Given the description of an element on the screen output the (x, y) to click on. 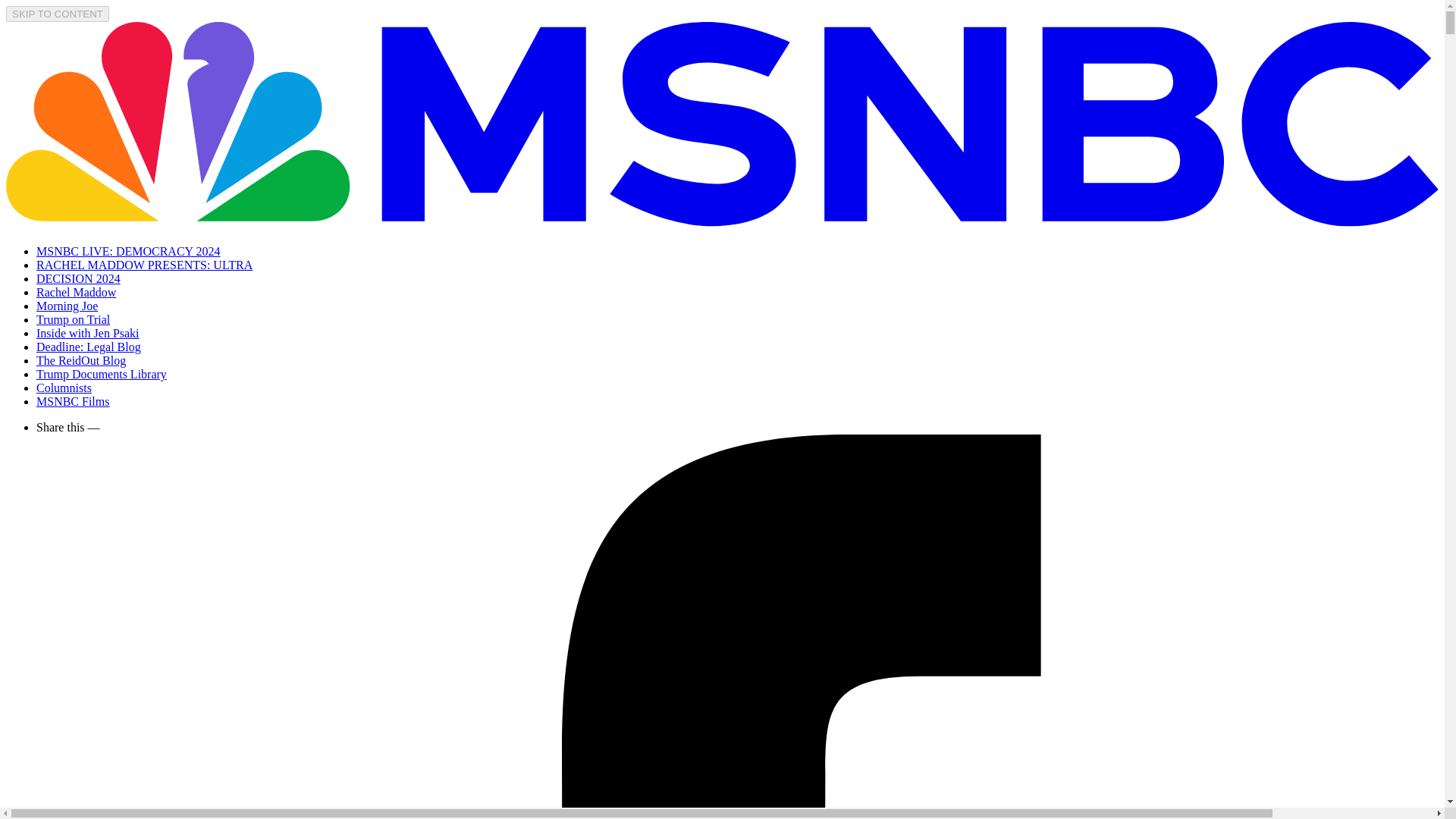
Rachel Maddow (76, 291)
SKIP TO CONTENT (57, 13)
Inside with Jen Psaki (87, 332)
Morning Joe (66, 305)
Deadline: Legal Blog (88, 346)
Trump on Trial (73, 318)
DECISION 2024 (78, 278)
Trump Documents Library (101, 373)
MSNBC Films (72, 400)
